Given the description of an element on the screen output the (x, y) to click on. 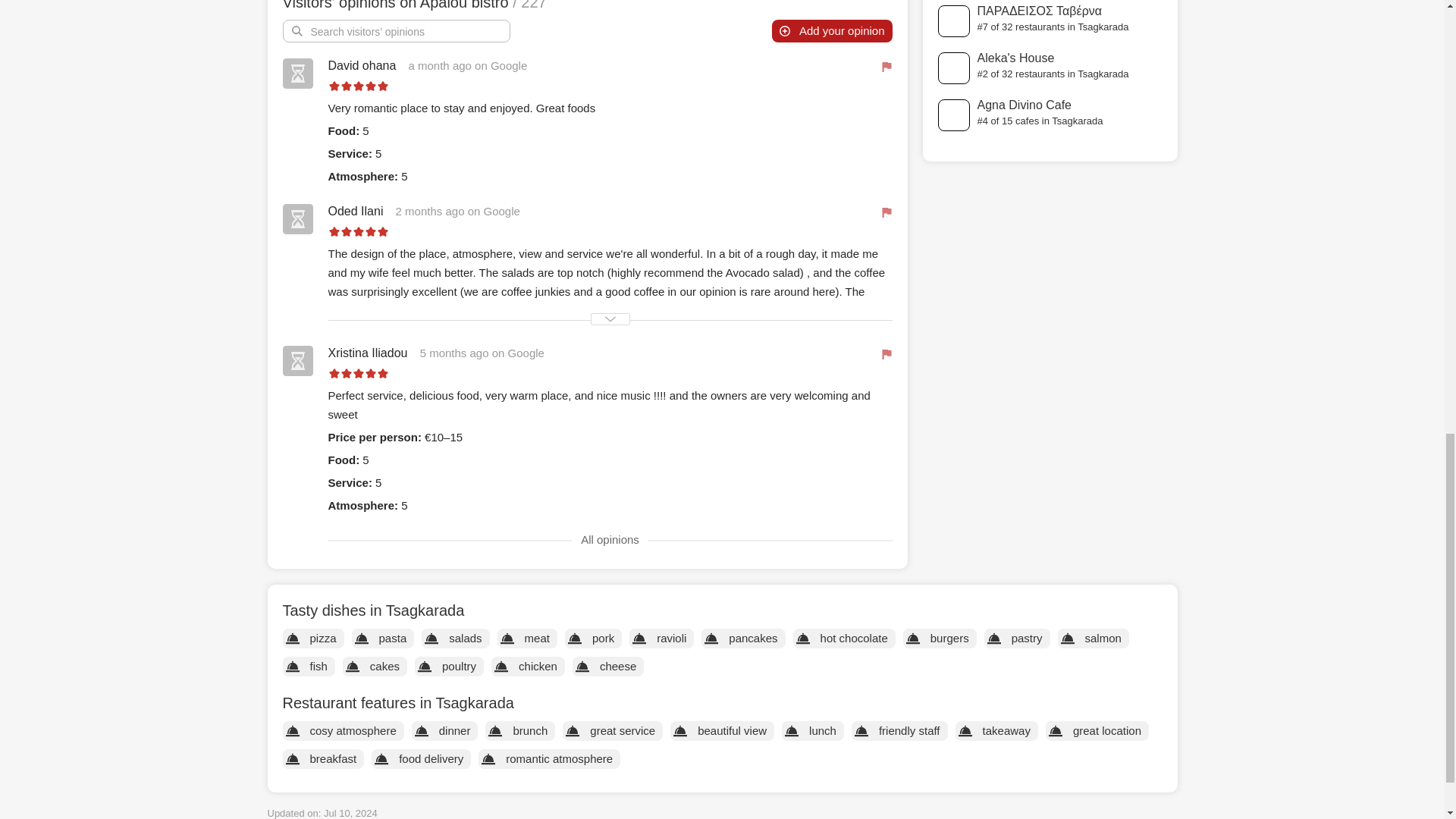
pizza (322, 638)
All opinions (609, 539)
David ohana (361, 65)
Xristina Iliadou (367, 352)
pasta (392, 638)
Oded Ilani (354, 210)
salads (465, 638)
meat (536, 638)
pork (603, 638)
